Given the description of an element on the screen output the (x, y) to click on. 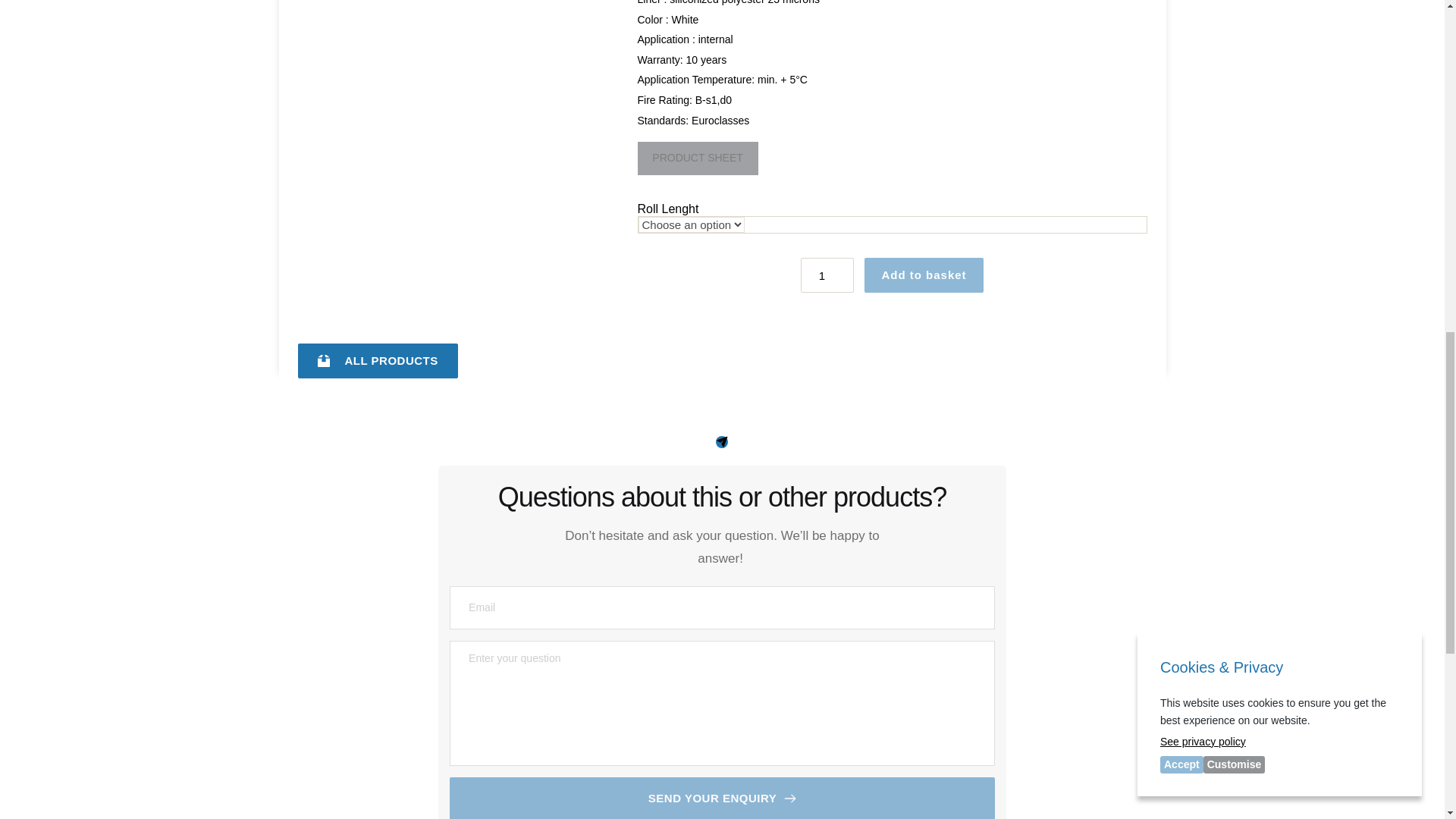
PRODUCT SHEET (697, 158)
1 (826, 274)
